Given the description of an element on the screen output the (x, y) to click on. 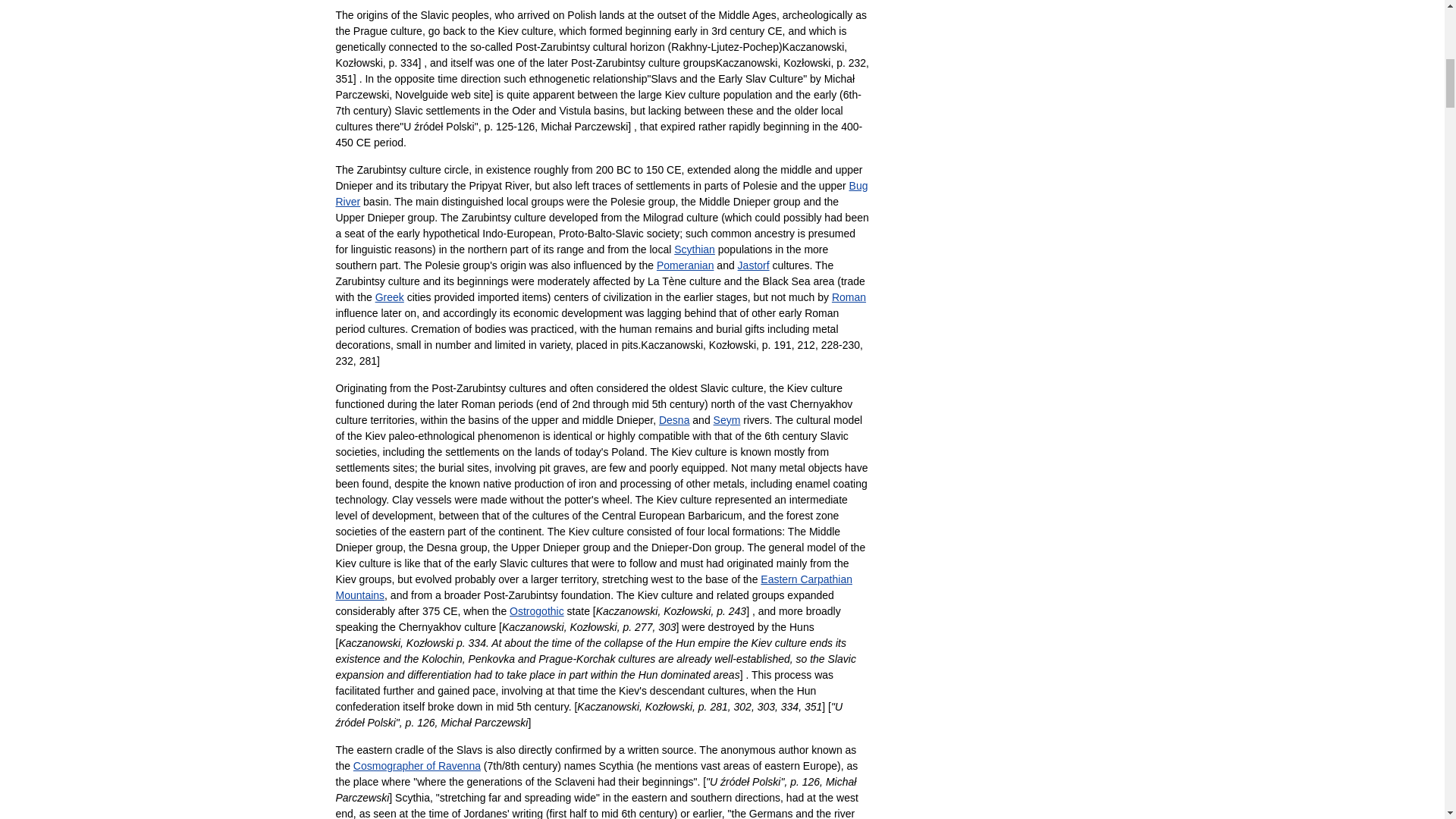
Seym (727, 419)
Desna (673, 419)
Scythian (694, 249)
Eastern Carpathian Mountains (592, 587)
Bug River (600, 193)
Ostrogothic (536, 611)
Greek (389, 297)
Roman (848, 297)
Pomeranian (685, 265)
Jastorf (754, 265)
